Given the description of an element on the screen output the (x, y) to click on. 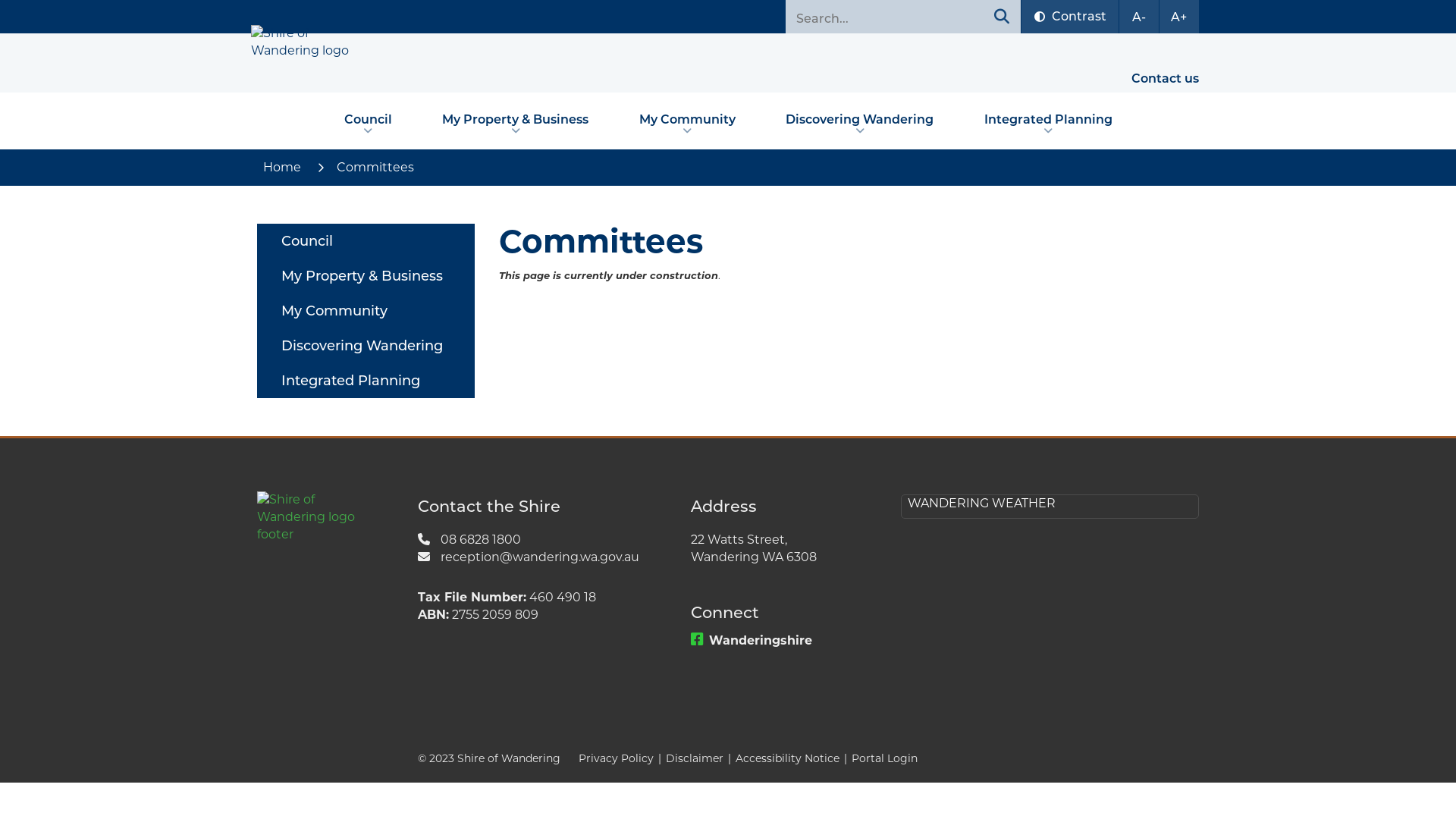
Portal Login Element type: text (884, 758)
My Property & Business Element type: text (365, 275)
WANDERING WEATHER Element type: text (981, 502)
My Community Element type: text (365, 310)
Follow to view the Shire of Wandering website home page Element type: hover (310, 517)
A- Element type: text (1138, 16)
Integrated Planning Element type: text (1047, 125)
08 6828 1800 Element type: text (531, 539)
Privacy Policy Element type: text (615, 758)
Contrast Element type: text (1069, 16)
A+ Element type: text (1178, 16)
Home Element type: text (283, 167)
My Community Element type: text (687, 125)
reception@wandering.wa.gov.au Element type: text (531, 556)
Contact us Element type: text (1159, 79)
View the Shire of Wandering website home page Element type: hover (311, 42)
Wanderingshire Element type: text (783, 640)
Council Element type: text (365, 240)
Council Element type: text (367, 125)
22 Watts Street,
Wandering WA 6308 Element type: text (783, 547)
Disclaimer Element type: text (694, 758)
Integrated Planning Element type: text (365, 380)
Discovering Wandering Element type: text (859, 125)
Accessibility Notice Element type: text (787, 758)
Discovering Wandering Element type: text (365, 345)
My Property & Business Element type: text (515, 125)
Committees Element type: text (375, 167)
